Given the description of an element on the screen output the (x, y) to click on. 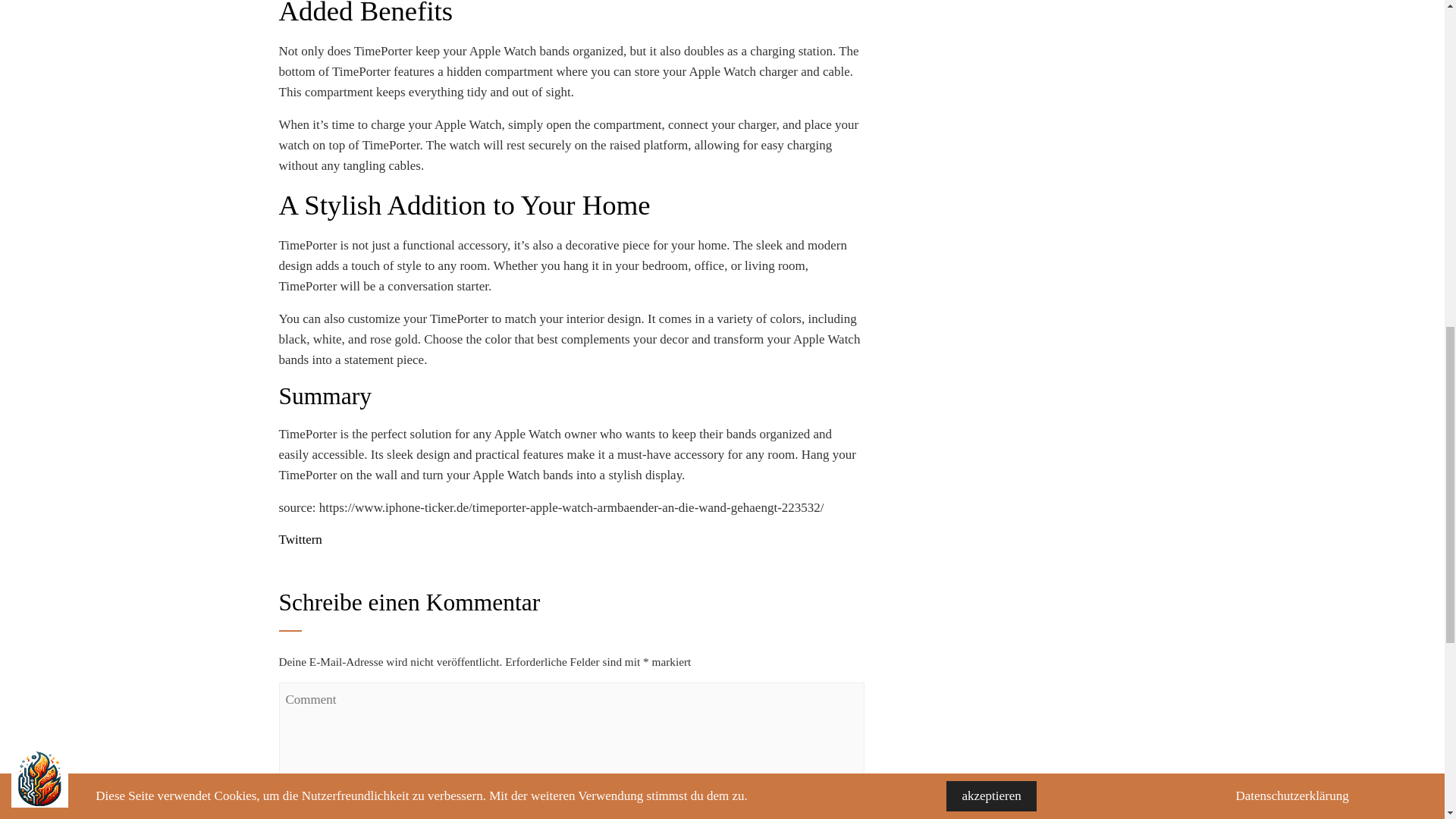
Twittern (300, 539)
